Given the description of an element on the screen output the (x, y) to click on. 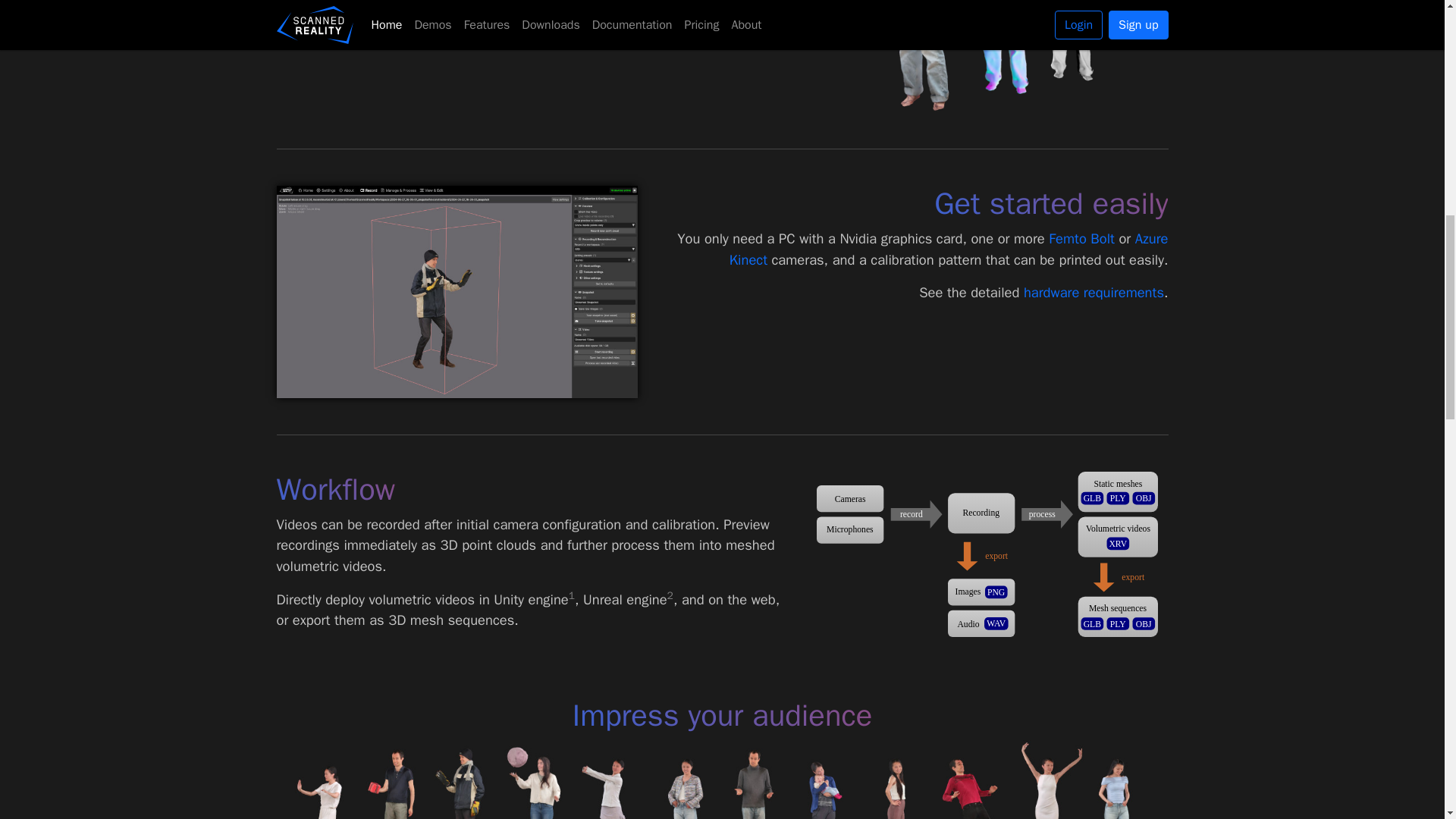
Femto Bolt (1081, 238)
Azure Kinect (949, 249)
hardware requirements (1093, 292)
